Given the description of an element on the screen output the (x, y) to click on. 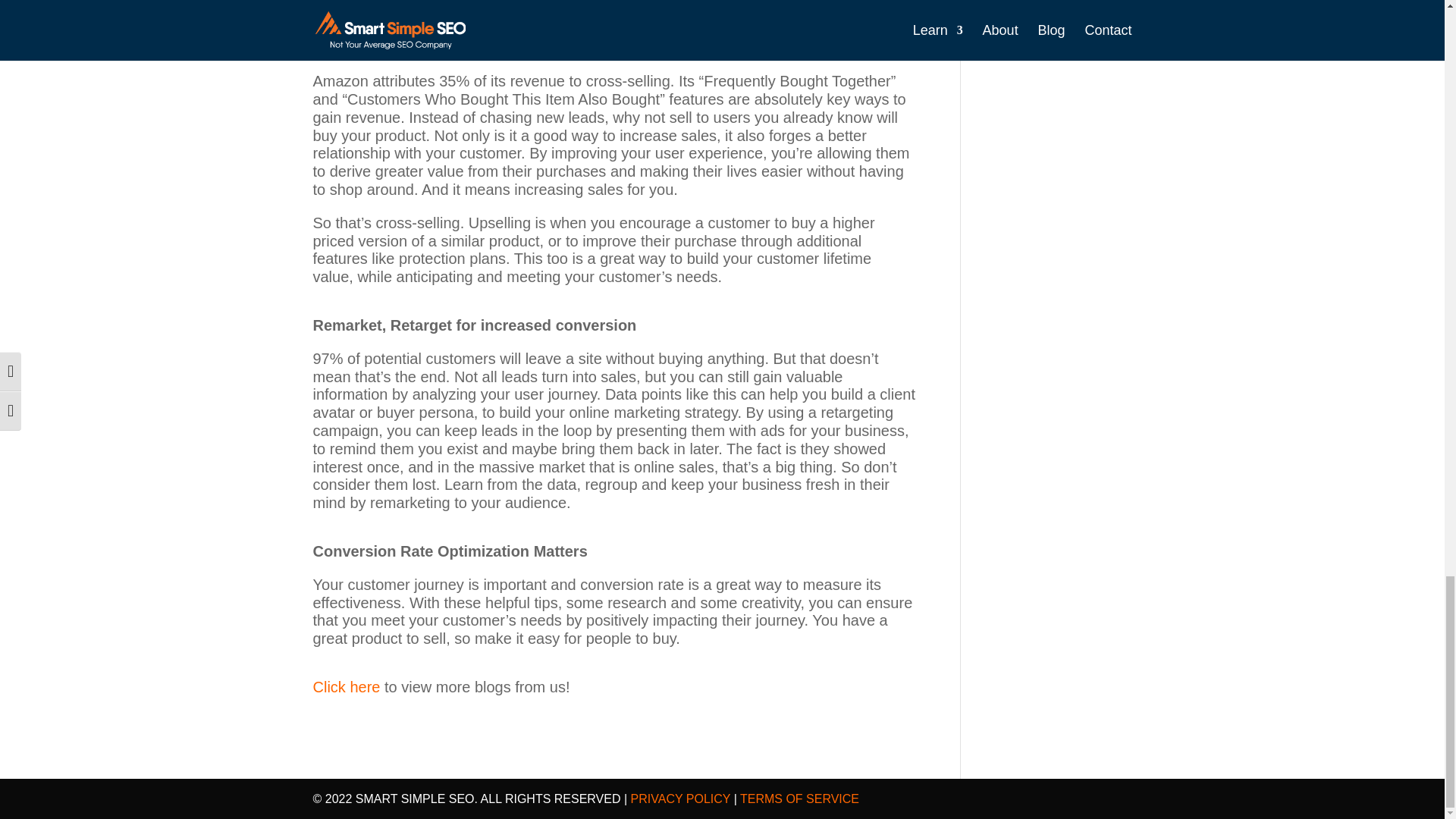
PRIVACY POLICY (680, 798)
TERMS OF SERVICE (797, 798)
Click here (346, 686)
